Given the description of an element on the screen output the (x, y) to click on. 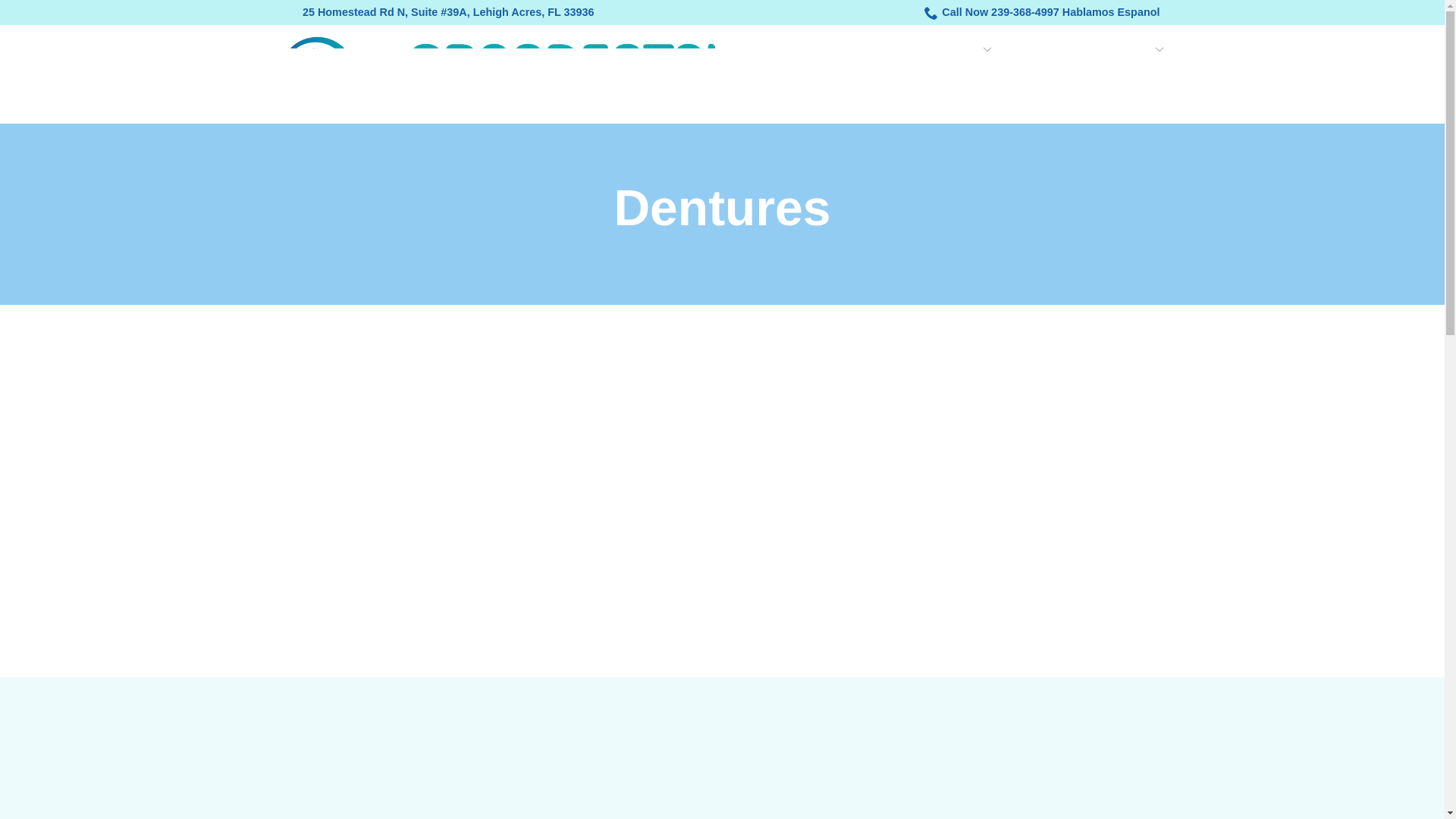
DENTURES (955, 73)
COSMETIC DENTISTRY (1092, 50)
GENERAL DENTISTRY (924, 50)
INVISALIGN (1048, 73)
CONTACT US (1126, 97)
DENTAL IMPLANTS (841, 73)
REVIEWS (1136, 73)
Call Now 239-368-4997 Hablamos Espanol (1041, 12)
